Given the description of an element on the screen output the (x, y) to click on. 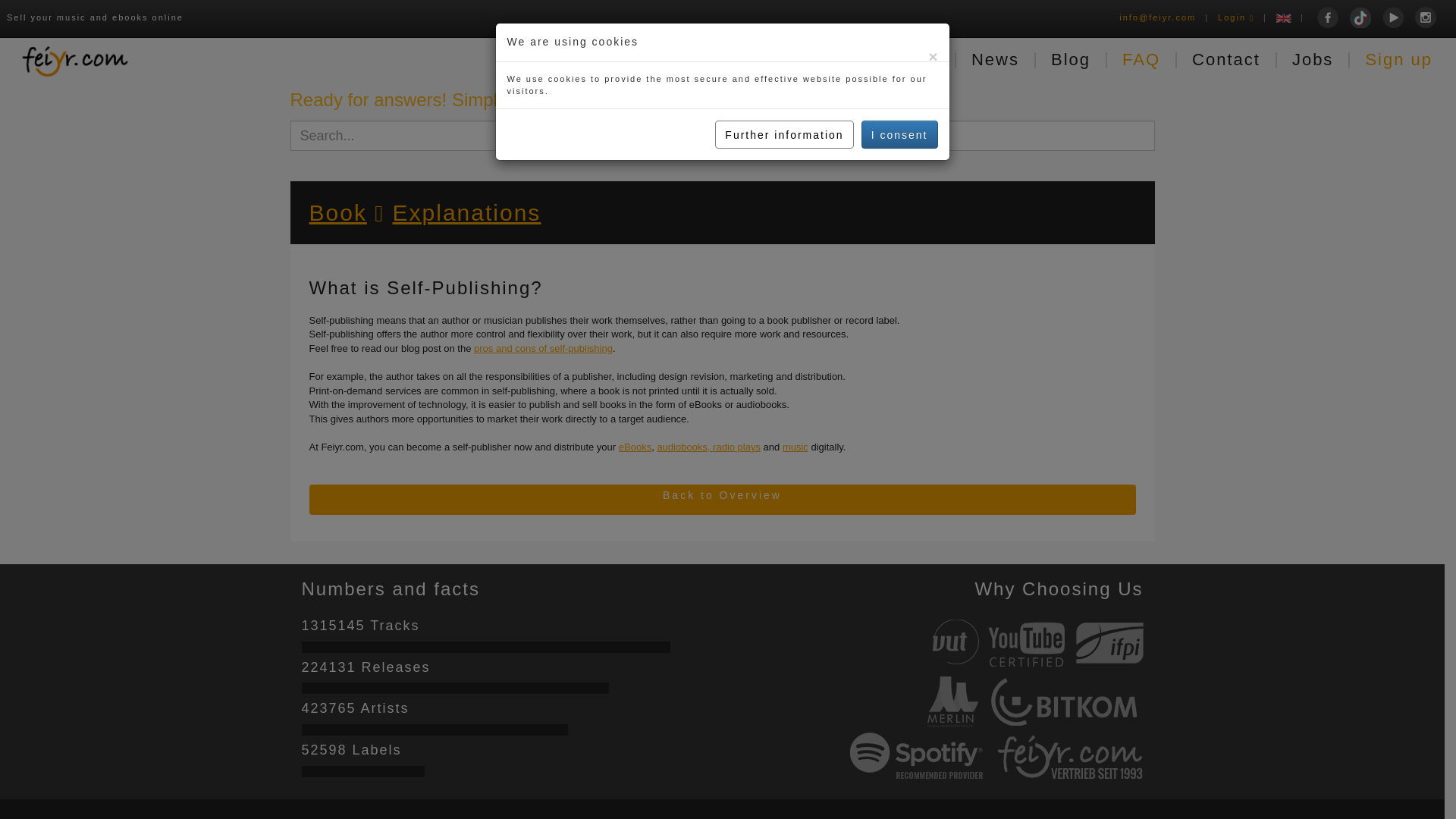
Contact (1226, 58)
Partners (681, 58)
Back to Overview (721, 499)
eBooks (634, 446)
References (801, 58)
Further information (783, 134)
audiobooks, radio plays (708, 446)
Sign up (1398, 58)
pros and cons of self-publishing (543, 348)
Book (337, 212)
